Given the description of an element on the screen output the (x, y) to click on. 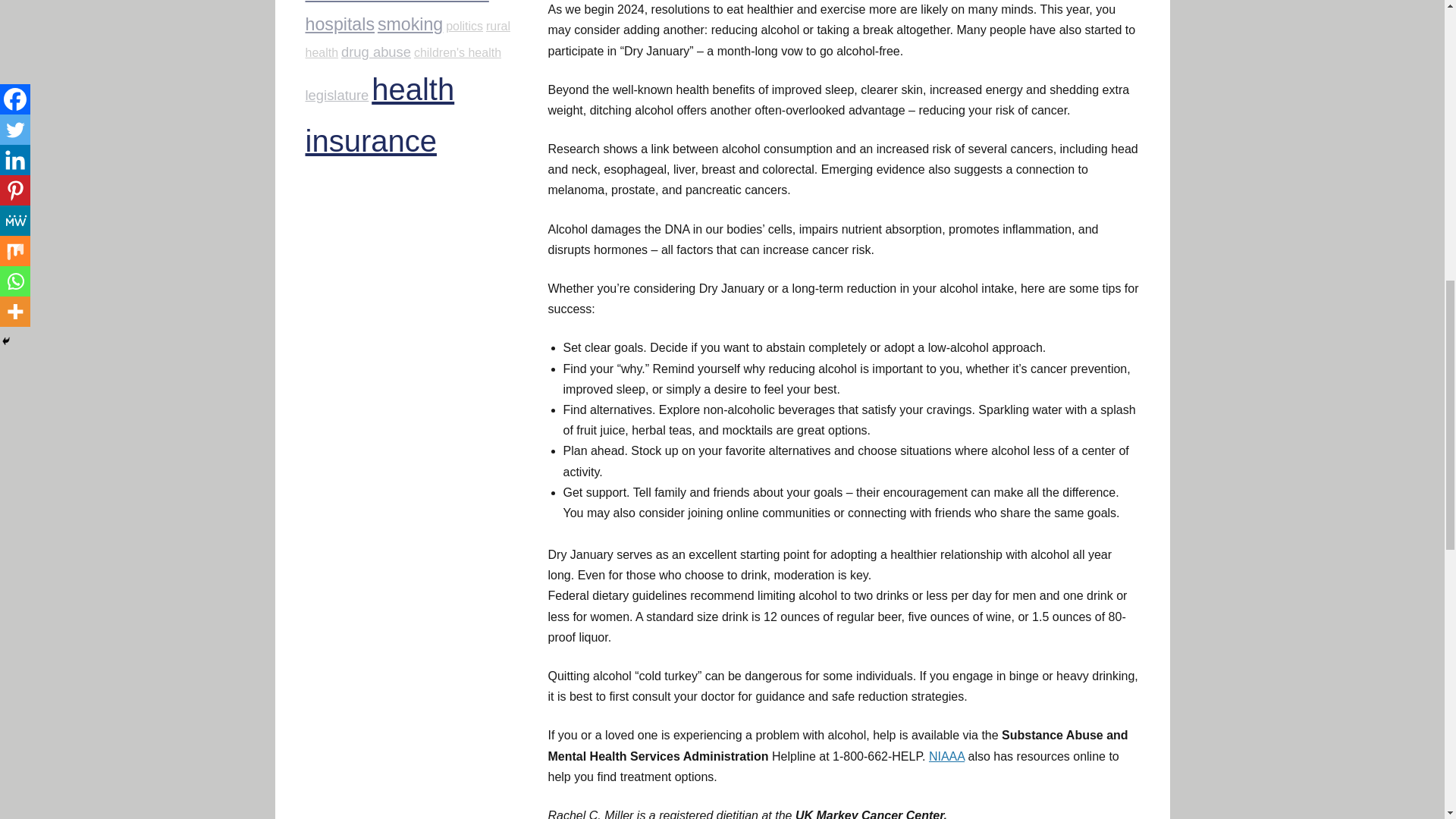
NIAAA (945, 756)
